Given the description of an element on the screen output the (x, y) to click on. 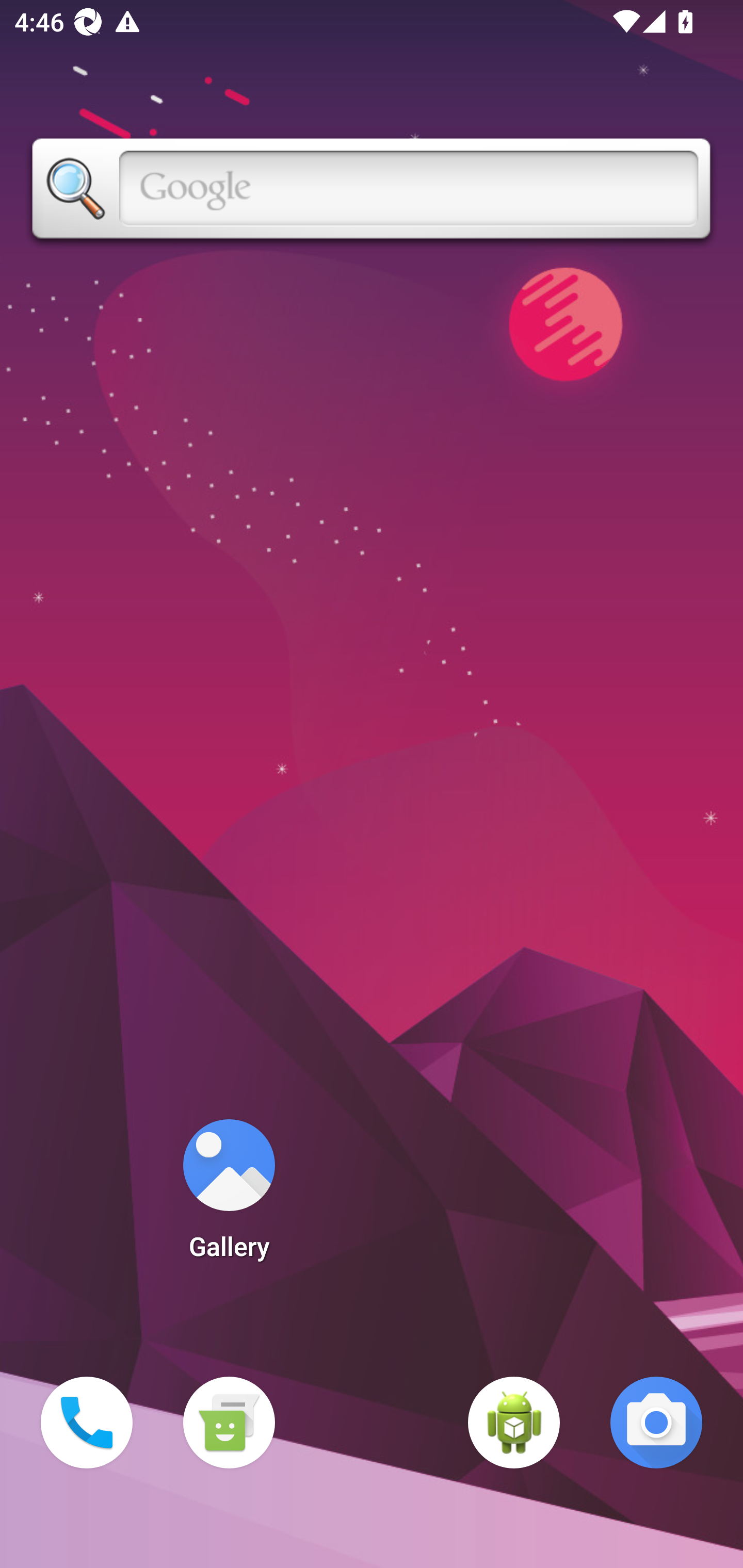
Gallery (228, 1195)
Phone (86, 1422)
Messaging (228, 1422)
WebView Browser Tester (513, 1422)
Camera (656, 1422)
